Given the description of an element on the screen output the (x, y) to click on. 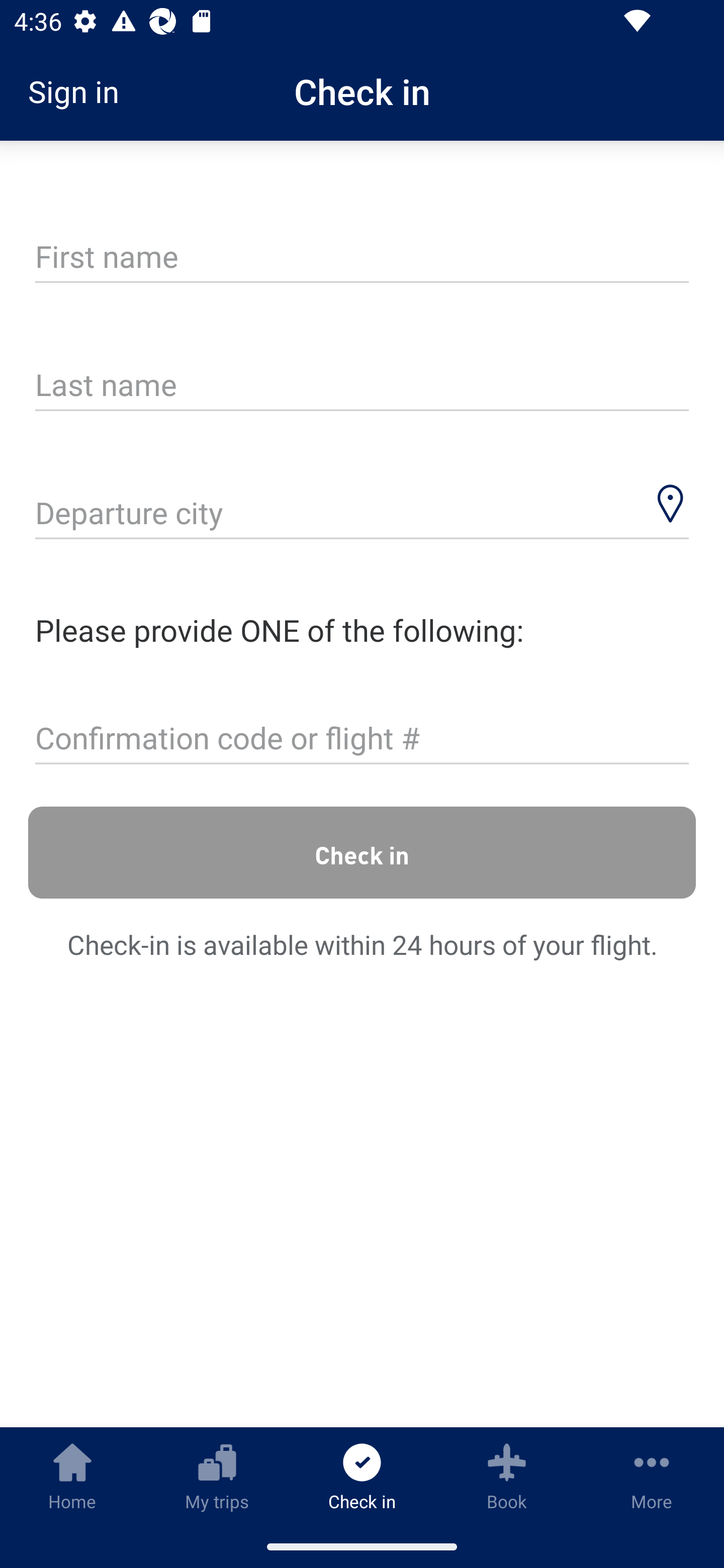
Sign in (80, 91)
First name (361, 257)
Last name (361, 386)
Departure city (361, 514)
Check in (361, 851)
Home (72, 1475)
My trips (216, 1475)
Book (506, 1475)
More (651, 1475)
